Given the description of an element on the screen output the (x, y) to click on. 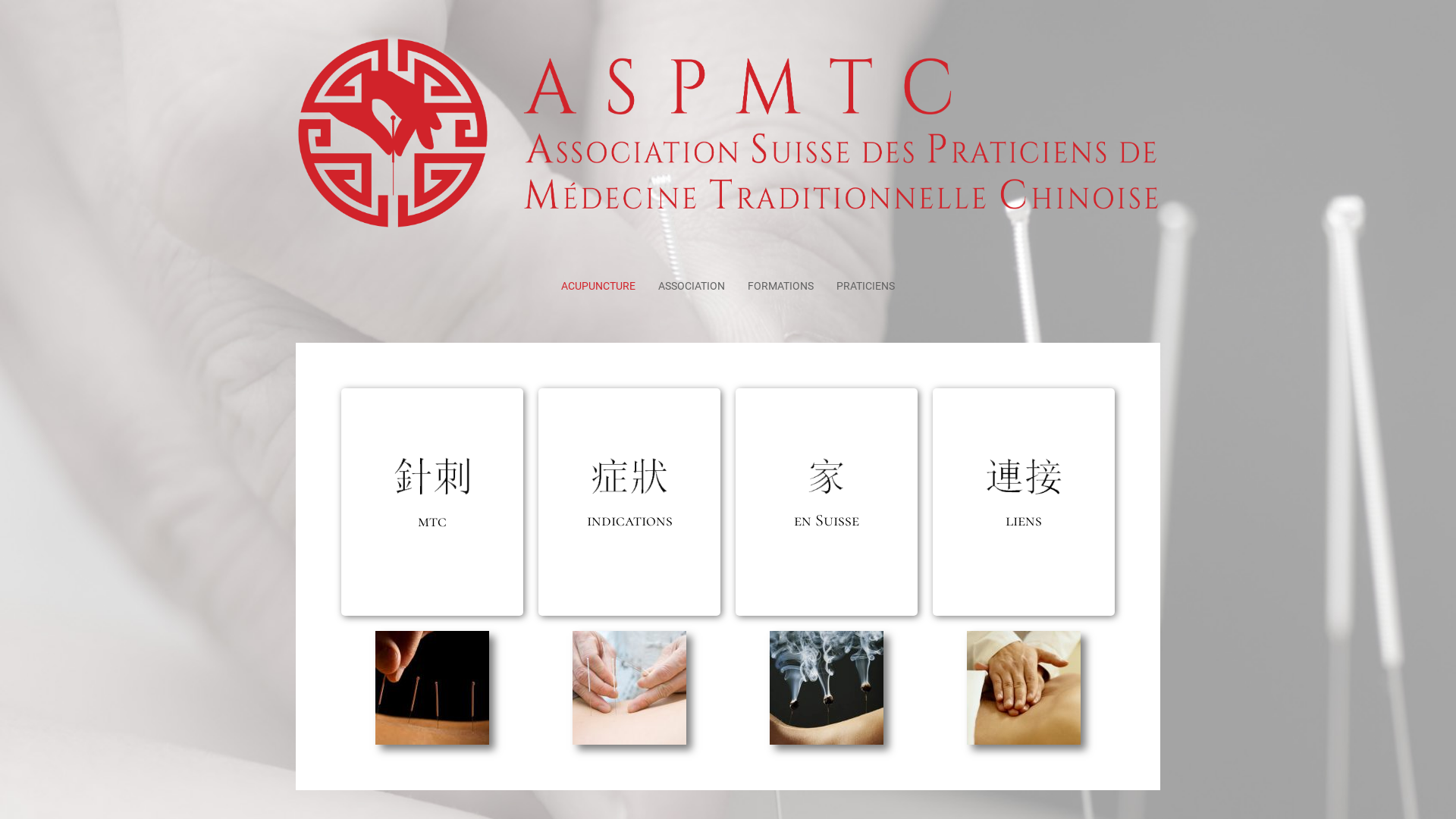
FORMATIONS Element type: text (780, 285)
ASSOCIATION Element type: text (691, 285)
PRATICIENS Element type: text (865, 285)
ACUPUNCTURE Element type: text (598, 285)
liens
liens
d'autres sites concernant l'acupuncture Element type: text (1023, 501)
indications
indications
les indications de l'acupuncture Element type: text (629, 501)
